Given the description of an element on the screen output the (x, y) to click on. 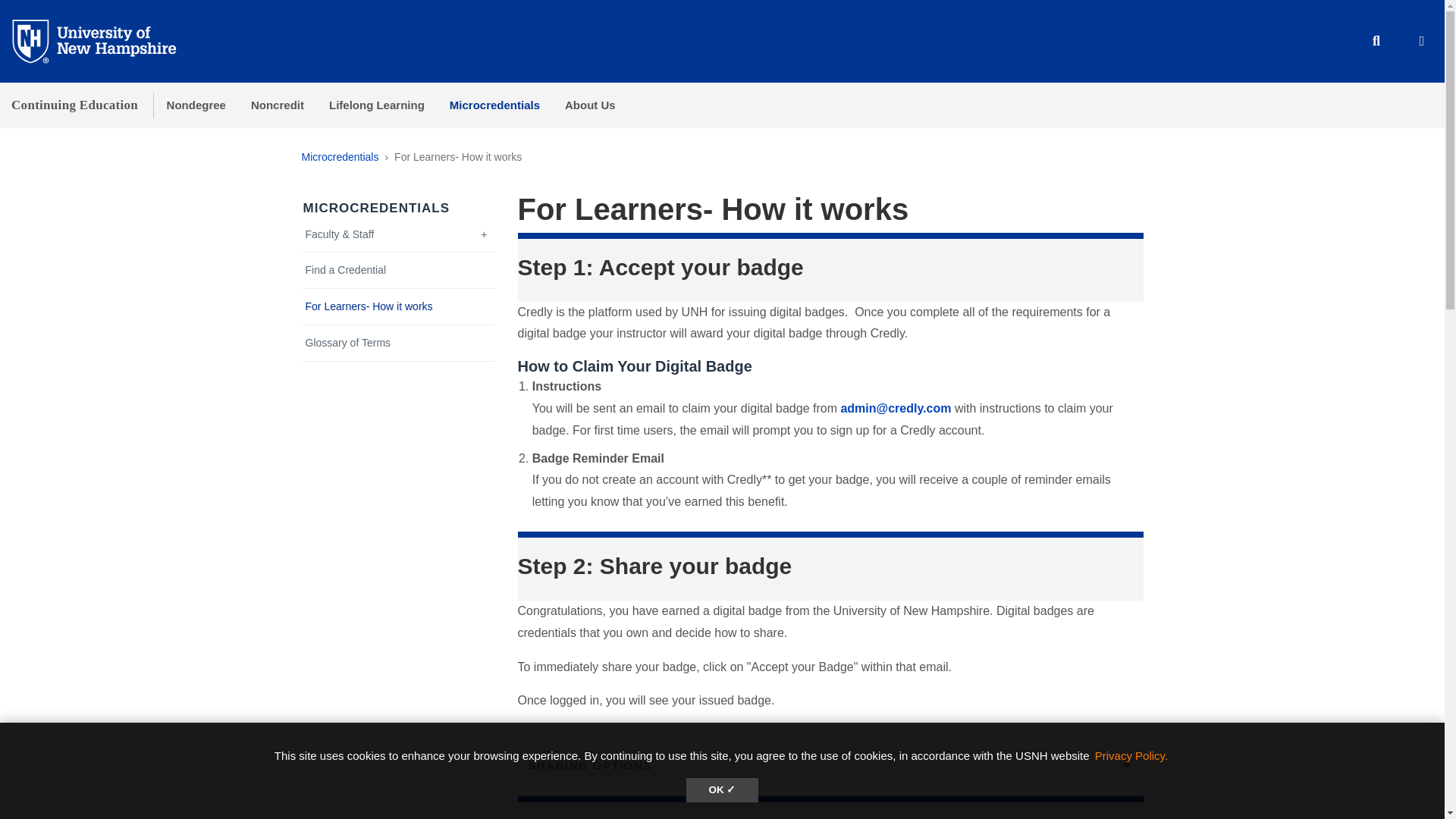
Privacy Policy. (1131, 755)
What do you want to learn? (399, 269)
SHARING OPTIONS (830, 764)
Nondegree (196, 104)
Continuing Education (74, 104)
For Learners- How it works (399, 306)
Find a Credential (399, 269)
Noncredit (276, 104)
Microcredentials (339, 156)
Lifelong Learning (375, 104)
Glossary of Terms (399, 342)
MICROCREDENTIALS (375, 207)
Microcredentials (493, 104)
University of New Hampshire (105, 40)
